Given the description of an element on the screen output the (x, y) to click on. 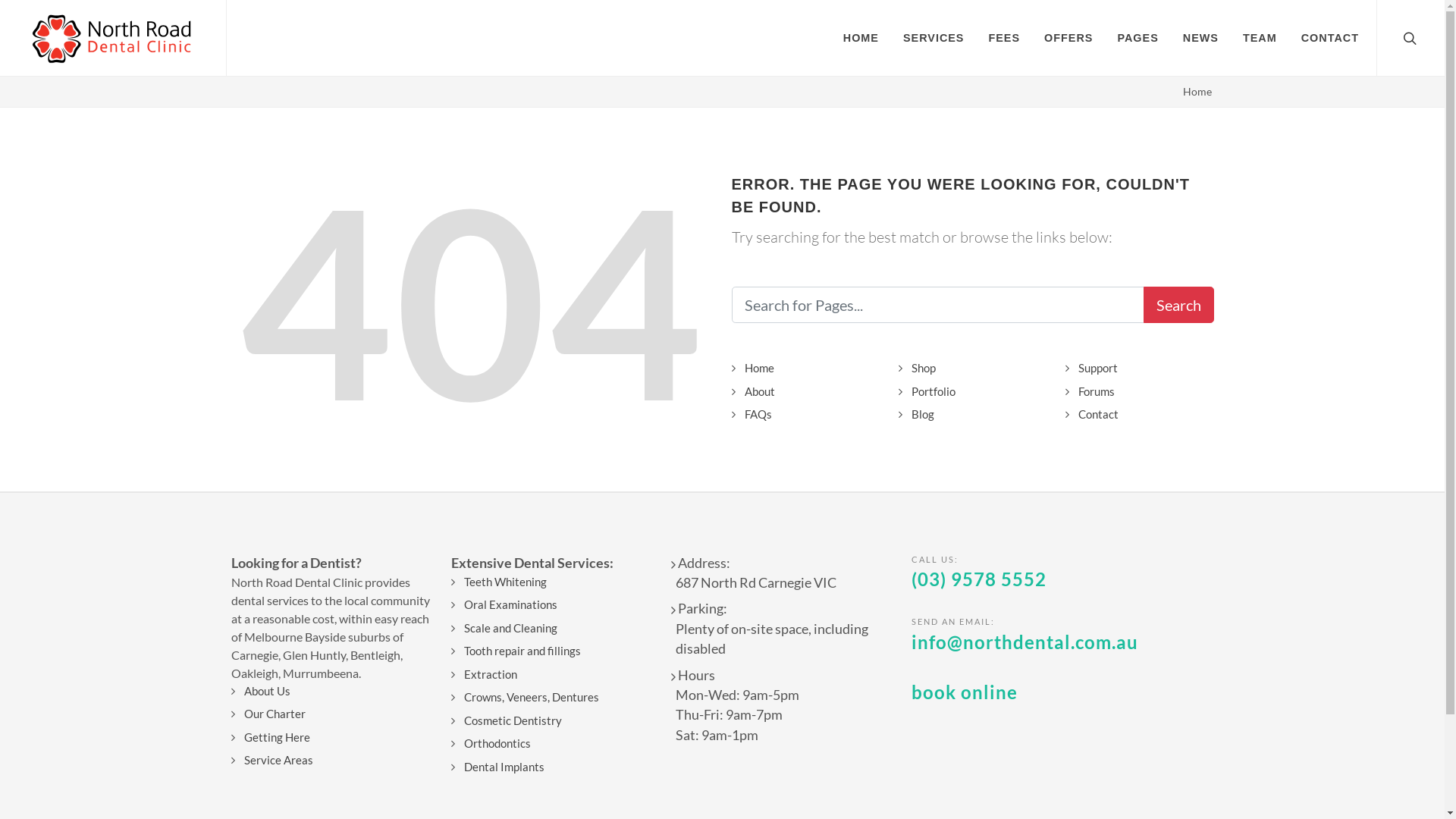
Service Areas Element type: text (275, 759)
Teeth Whitening Element type: text (502, 581)
Orthodontics Element type: text (494, 743)
About Us Element type: text (263, 690)
Dental Implants Element type: text (500, 766)
SERVICES Element type: text (933, 37)
book online Element type: text (964, 691)
CONTACT Element type: text (1329, 37)
Extraction Element type: text (487, 674)
(03) 9578 5552 Element type: text (978, 578)
Shop Element type: text (920, 367)
Support Element type: text (1094, 367)
Getting Here Element type: text (273, 737)
HOME Element type: text (860, 37)
Portfolio Element type: text (929, 391)
Crowns, Veneers, Dentures Element type: text (528, 697)
Search Element type: text (1178, 304)
OFFERS Element type: text (1068, 37)
Blog Element type: text (919, 414)
Cosmetic Dentistry Element type: text (509, 720)
Oral Examinations Element type: text (507, 604)
Home Element type: text (1197, 90)
FEES Element type: text (1003, 37)
Contact Element type: text (1094, 414)
Tooth repair and fillings Element type: text (519, 650)
Our Charter Element type: text (271, 713)
Forums Element type: text (1093, 391)
NEWS Element type: text (1200, 37)
Home Element type: text (755, 367)
Scale and Cleaning Element type: text (507, 628)
About Element type: text (756, 391)
FAQs Element type: text (754, 414)
PAGES Element type: text (1137, 37)
TEAM Element type: text (1259, 37)
info@northdental.com.au Element type: text (1024, 641)
